Given the description of an element on the screen output the (x, y) to click on. 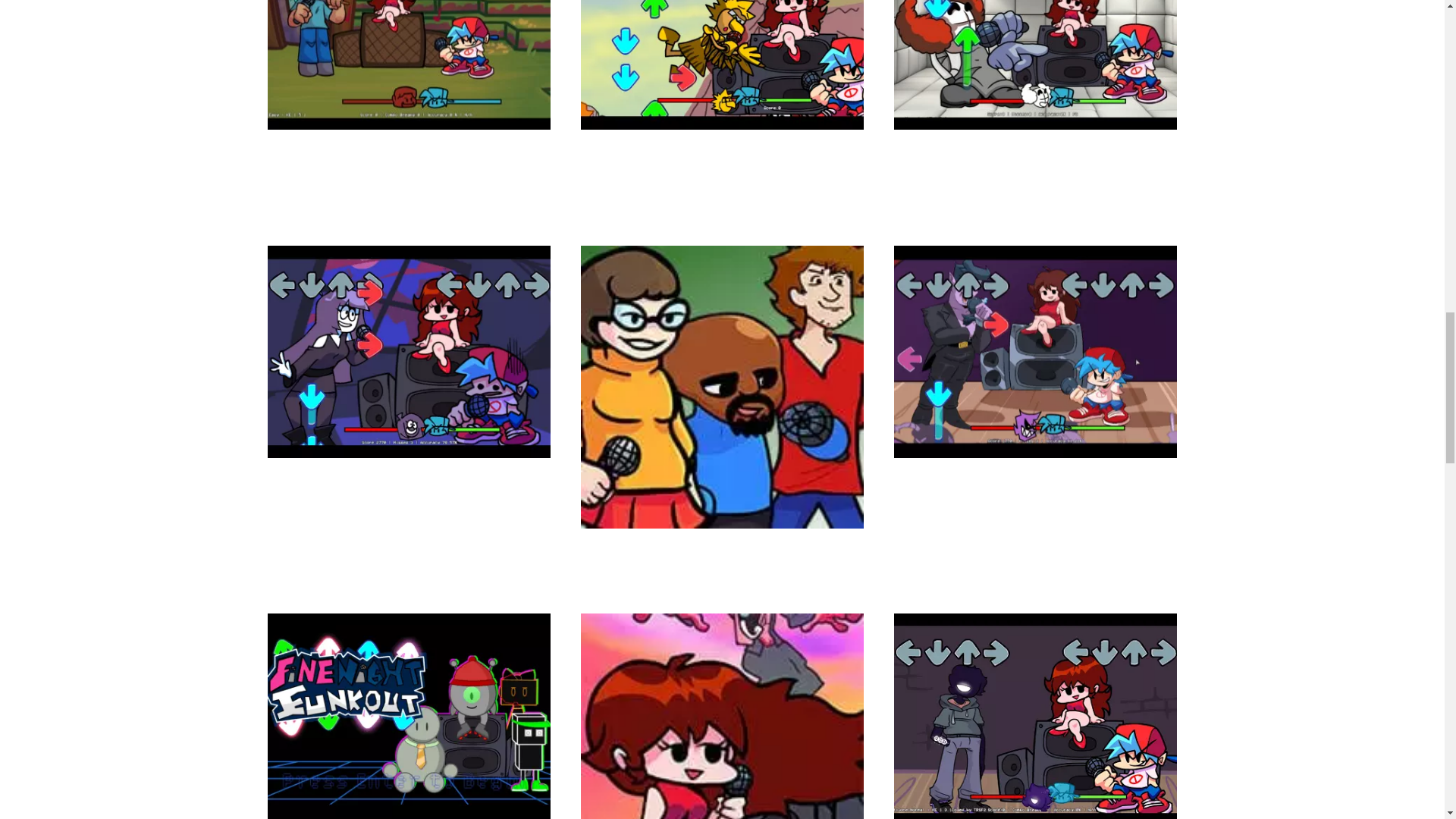
FNF vs Tricky Phrase 0 (1034, 91)
FNF vs Tricky Phrase 0 (1034, 91)
Night Funkin vs Canary Mary (721, 107)
Fine Night Funkout (408, 765)
Friday Night Funkin HD (1034, 419)
FNF: Shaggy X Velma (721, 474)
Friday Night Funkin HD (1034, 419)
Friday Night Mining vs Steve (408, 107)
FNF: HEARTBREAK Vs Girlfriend (721, 783)
FNF: HEARTBREAK Vs Girlfriend (721, 783)
Friday Night Funkin VS Dark (1034, 765)
Night Funkin vs Canary Mary (721, 107)
Friday Night Funkin VS Dark (1034, 765)
Fine Night Funkout (408, 765)
Friday Night Mining vs Steve (408, 107)
